Given the description of an element on the screen output the (x, y) to click on. 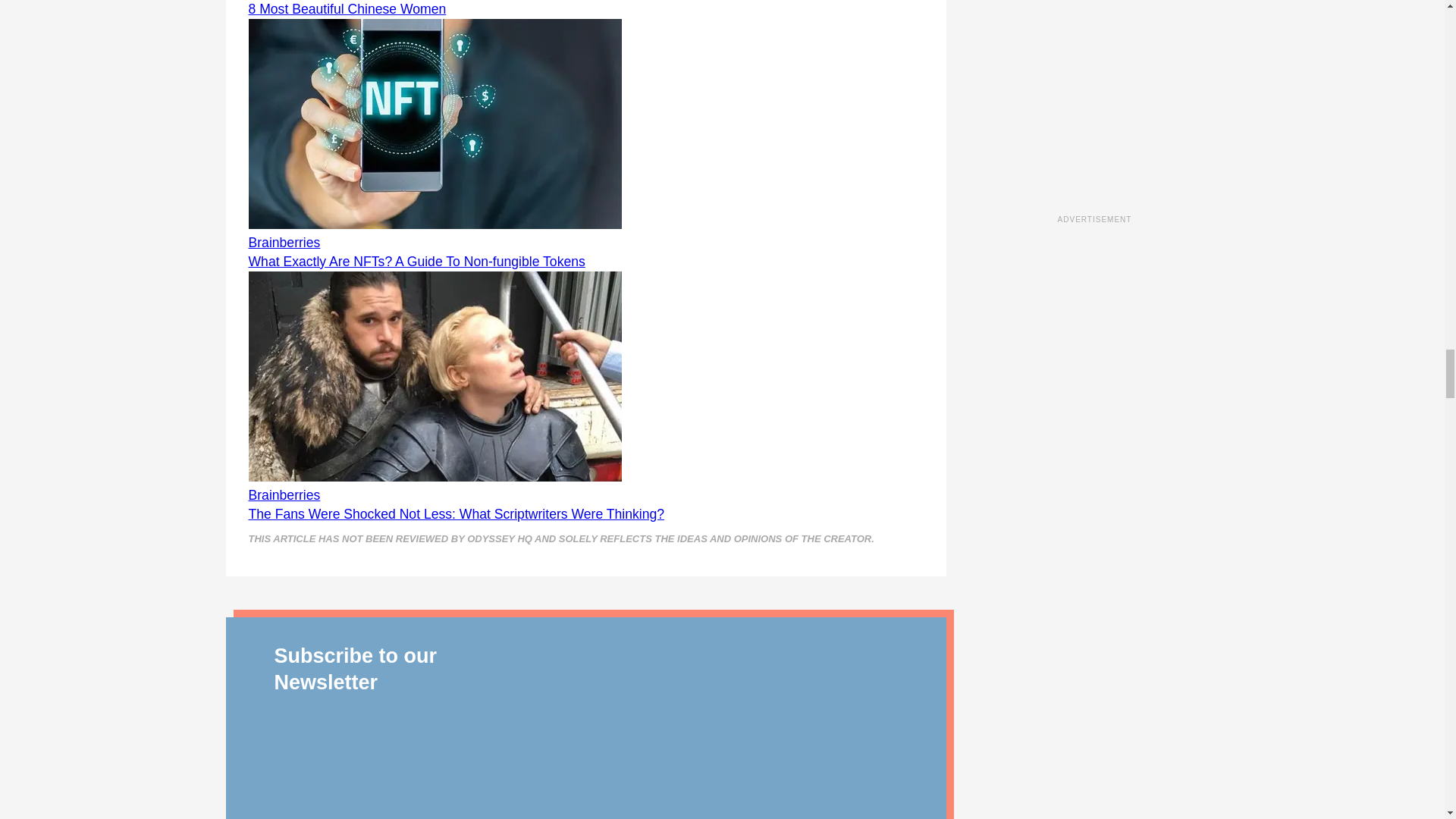
Form 0 (713, 726)
